Given the description of an element on the screen output the (x, y) to click on. 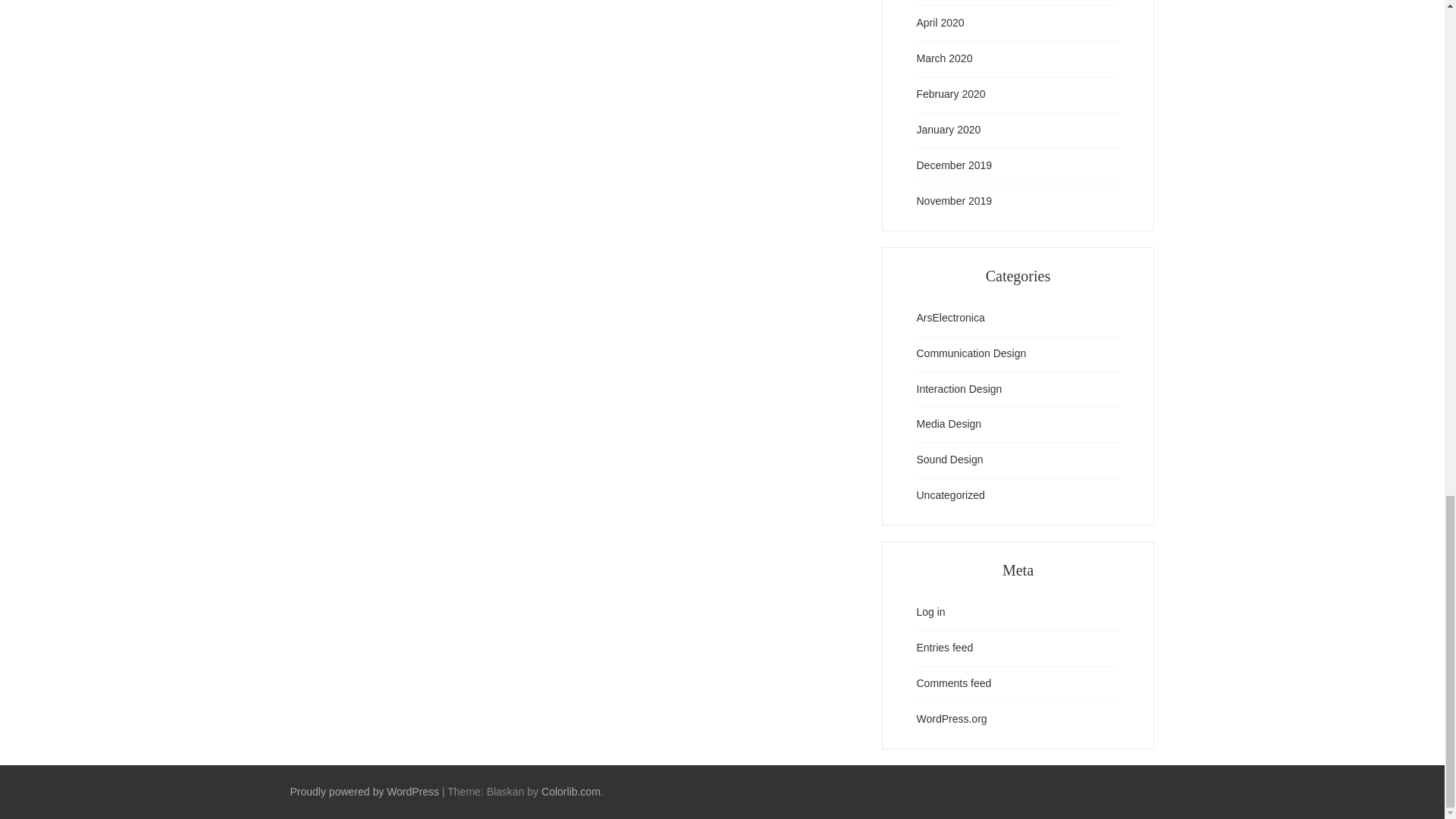
February 2020 (950, 94)
January 2020 (947, 130)
March 2020 (943, 58)
December 2019 (953, 166)
April 2020 (939, 23)
